Given the description of an element on the screen output the (x, y) to click on. 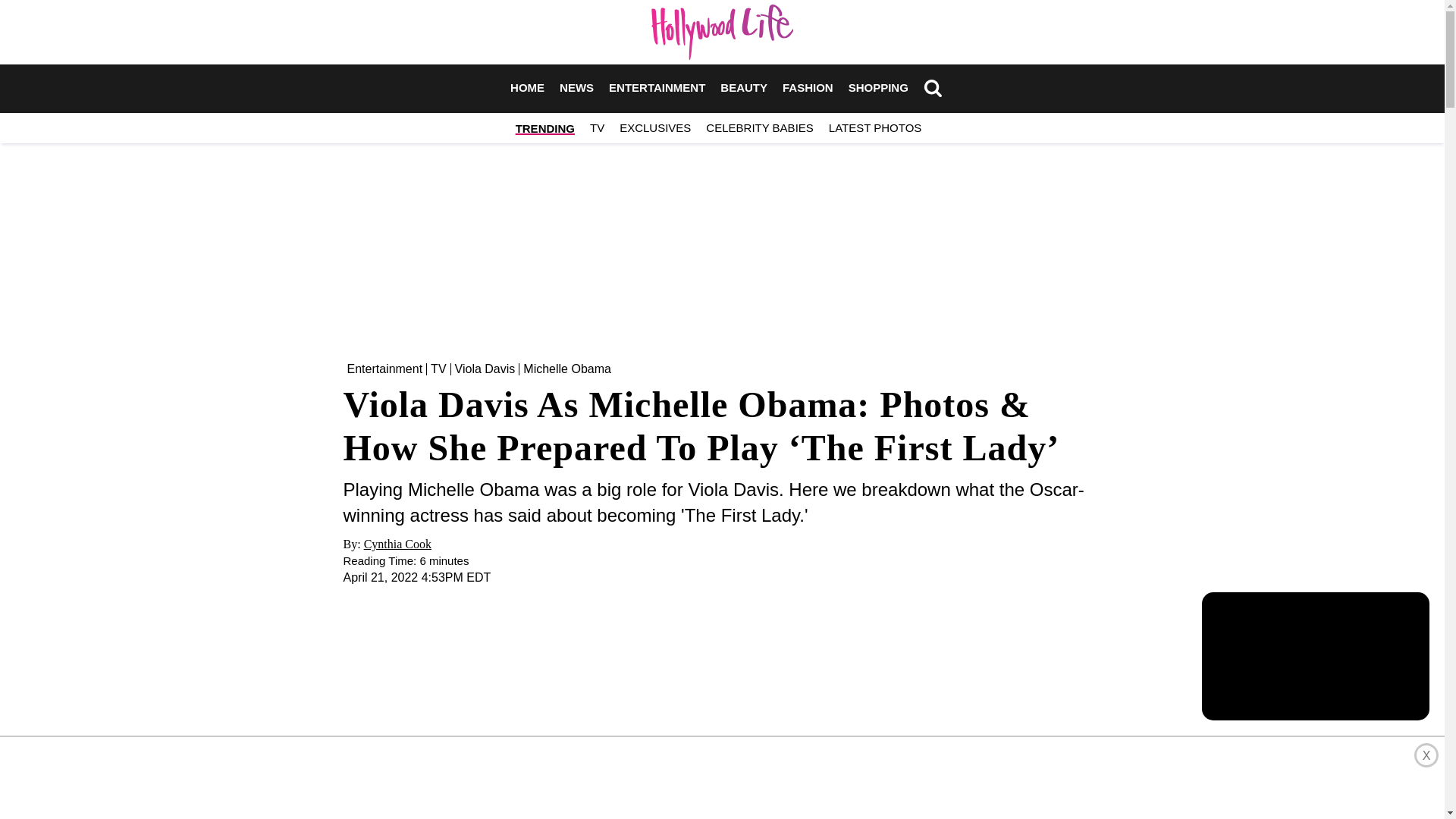
FASHION (807, 88)
SHOPPING (878, 88)
3rd party ad content (721, 777)
ENTERTAINMENT (656, 88)
Posts by Cynthia Cook (397, 543)
Hollywood Life (722, 32)
3rd party ad content (721, 245)
BEAUTY (743, 88)
